Given the description of an element on the screen output the (x, y) to click on. 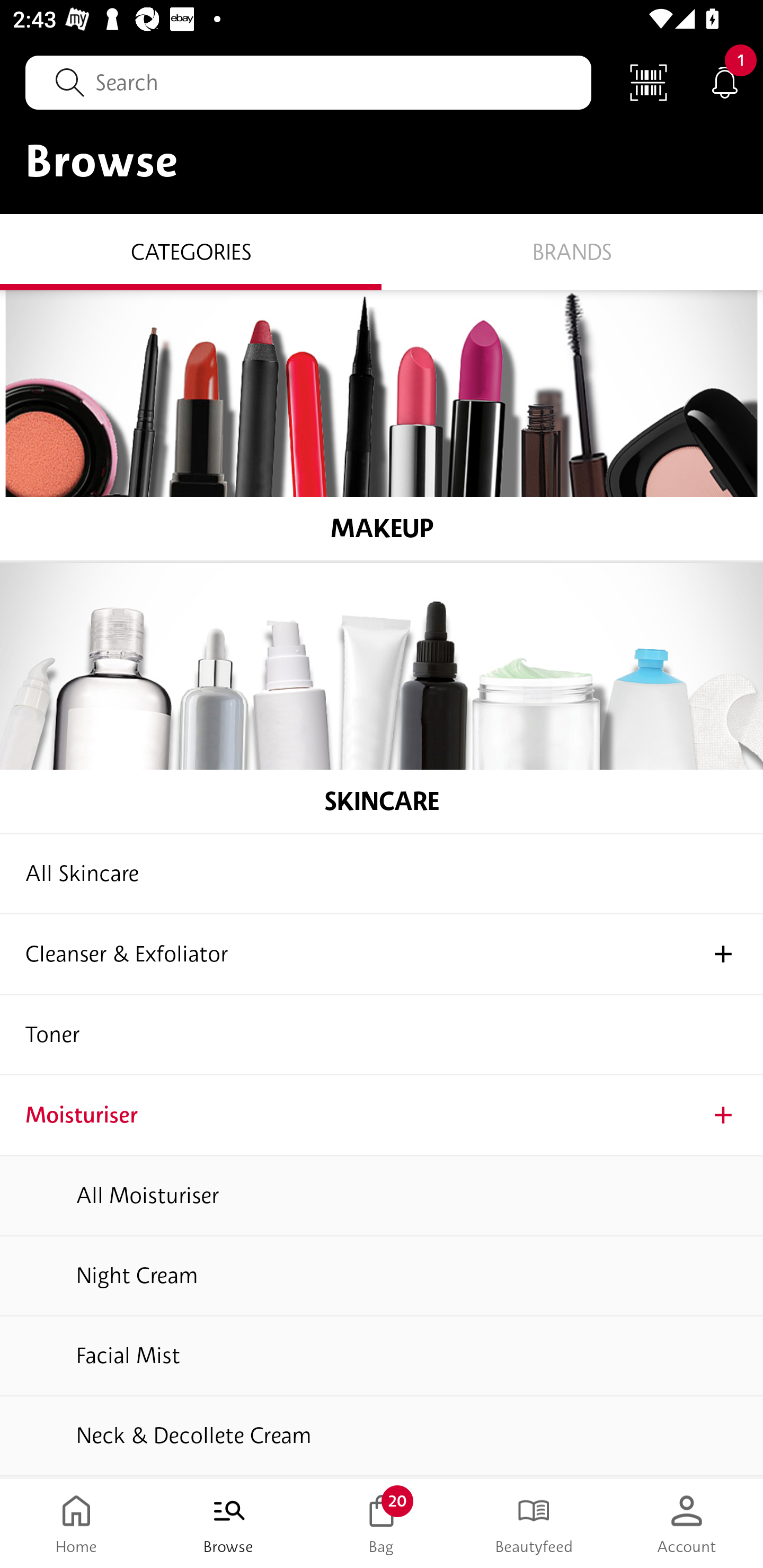
Scan Code (648, 81)
Notifications (724, 81)
Search (308, 81)
Brands BRANDS (572, 251)
MAKEUP (381, 425)
All Skincare (381, 874)
Cleanser & Exfoliator (381, 954)
Toner (381, 1035)
All Moisturiser (381, 1197)
Night Cream (381, 1277)
Facial Mist (381, 1357)
Neck & Decollete Cream (381, 1437)
Home (76, 1523)
Bag 20 Bag (381, 1523)
Beautyfeed (533, 1523)
Account (686, 1523)
